Given the description of an element on the screen output the (x, y) to click on. 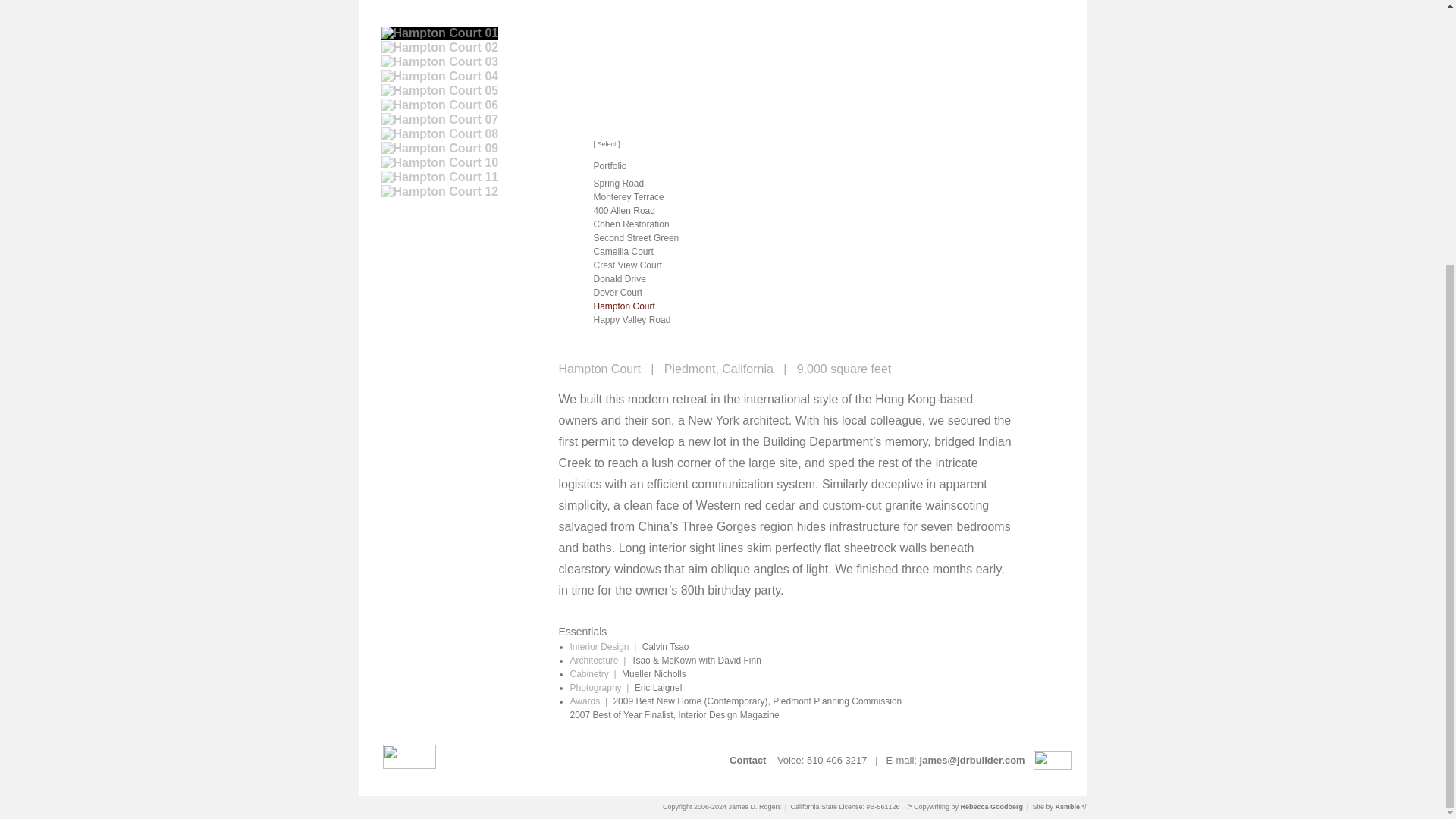
Crest View Court (626, 265)
Spring Road (617, 183)
Spring Road (617, 183)
Hampton Court 07 (438, 119)
Hampton Court 02 (438, 47)
Portfolio (609, 164)
Hampton Court 04 (438, 76)
400 Allen Road (622, 210)
Hampton Court 06 (438, 105)
Monterey Terrace (627, 196)
